Given the description of an element on the screen output the (x, y) to click on. 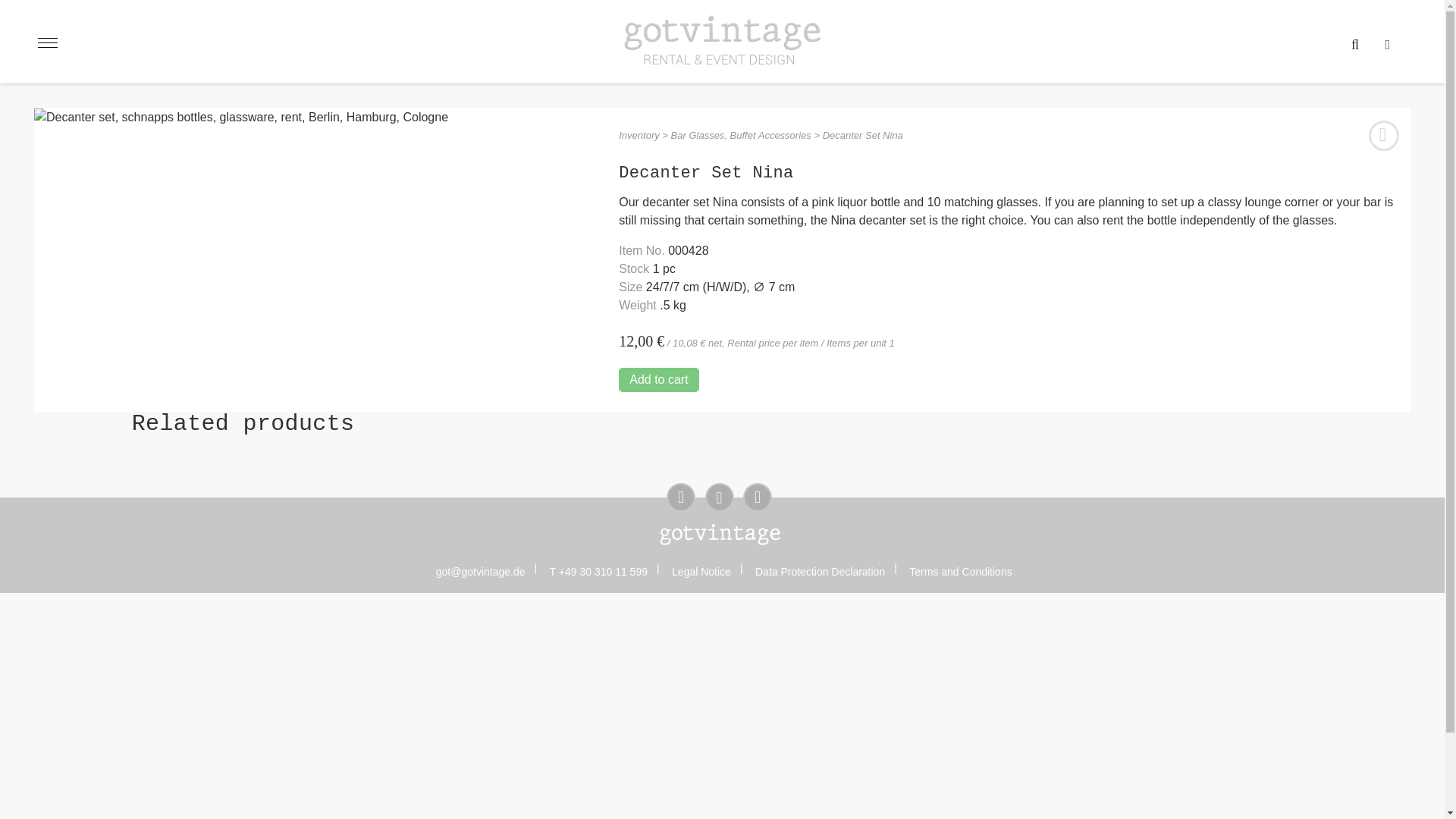
Add to cart (658, 379)
Inventory (638, 134)
Decanter Set Nina (240, 117)
Bar Glasses (700, 134)
Buffet Accessories (770, 134)
